Given the description of an element on the screen output the (x, y) to click on. 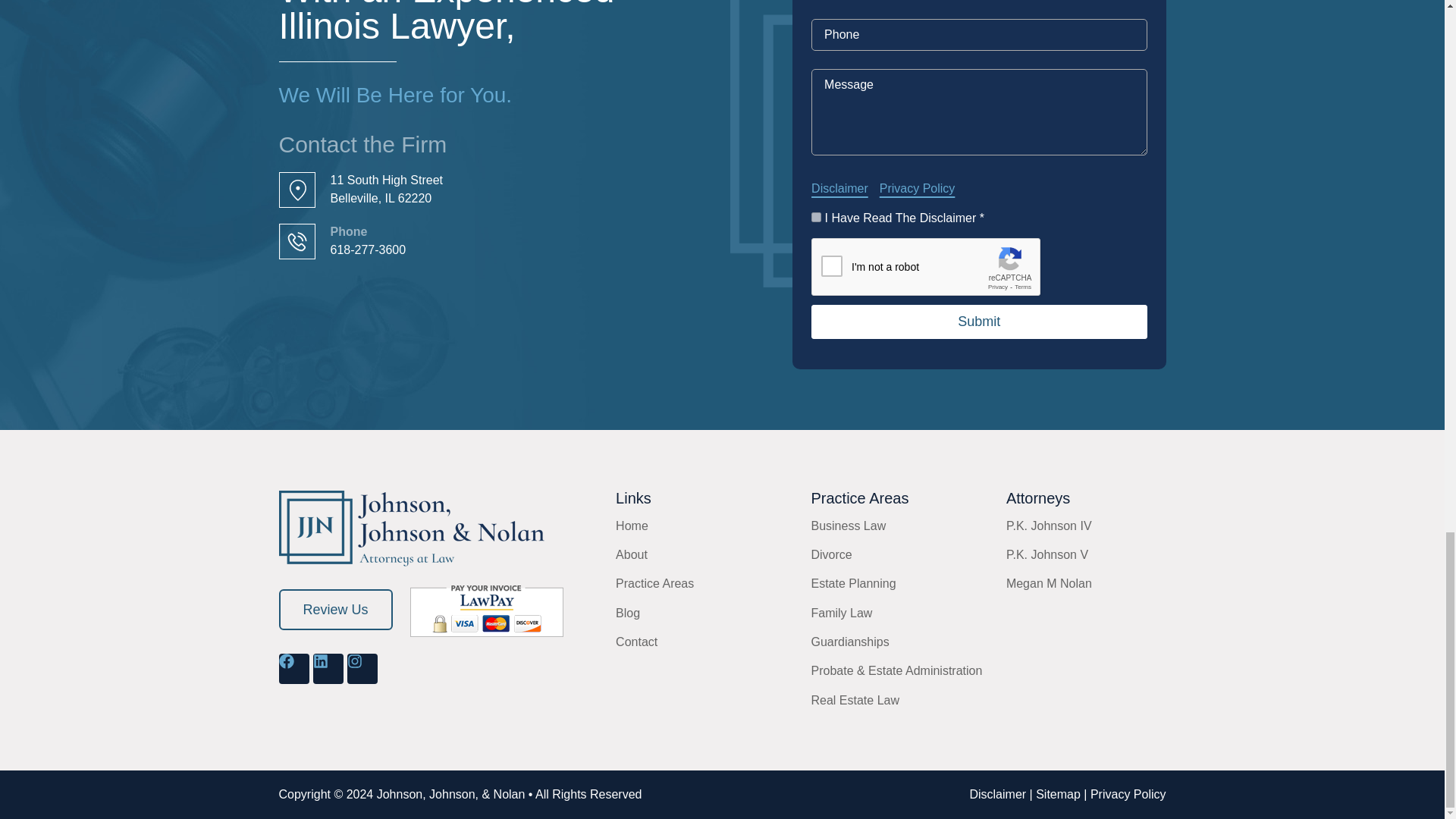
reCAPTCHA (926, 267)
Submit (978, 321)
